Given the description of an element on the screen output the (x, y) to click on. 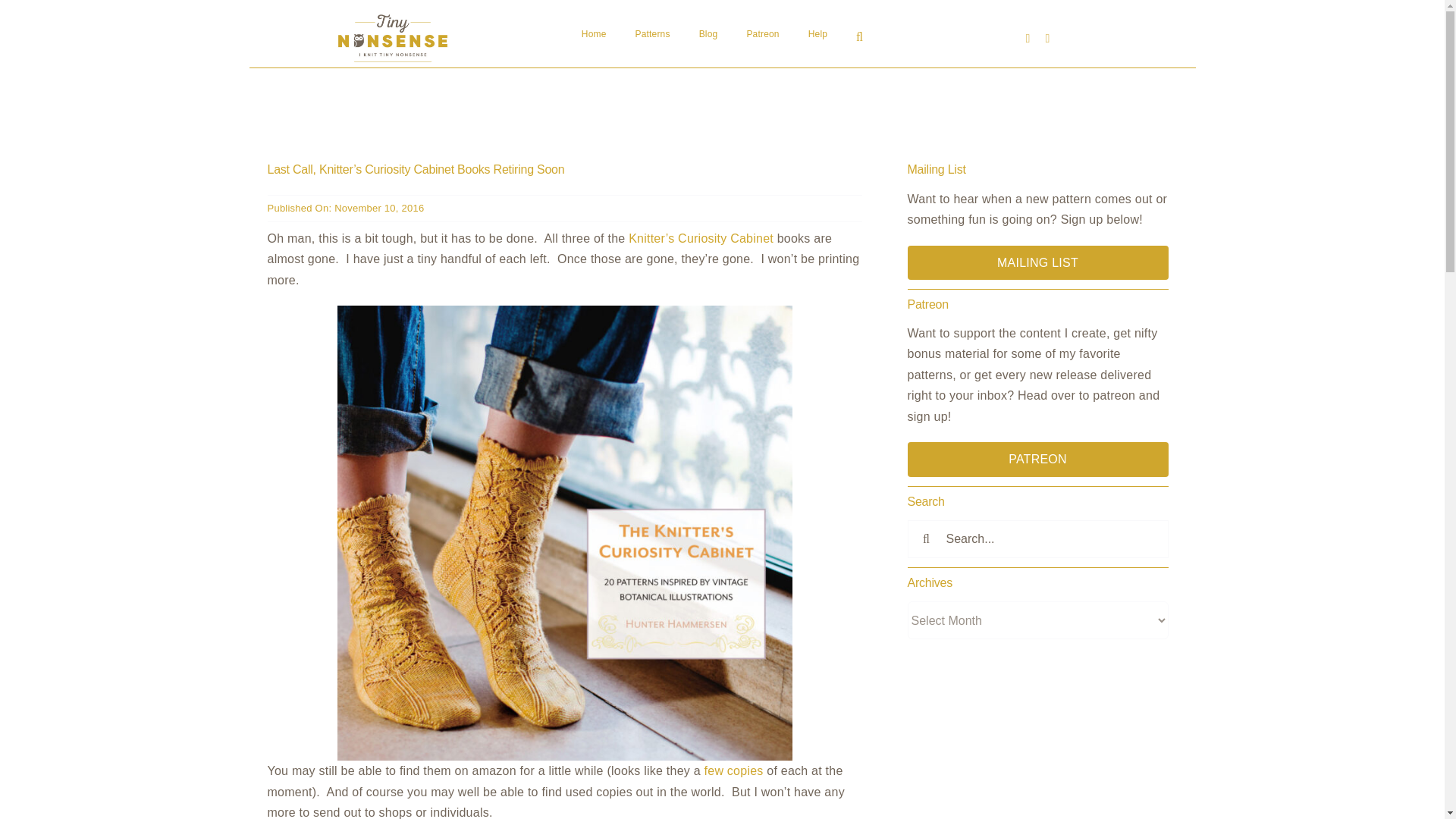
Help (817, 34)
Patreon (761, 34)
PATREON (1037, 458)
Patterns (651, 34)
Blog (707, 34)
MAILING LIST (1037, 262)
X (1027, 38)
Instagram (1047, 38)
Search (859, 37)
Home (593, 34)
few copies (733, 770)
